Given the description of an element on the screen output the (x, y) to click on. 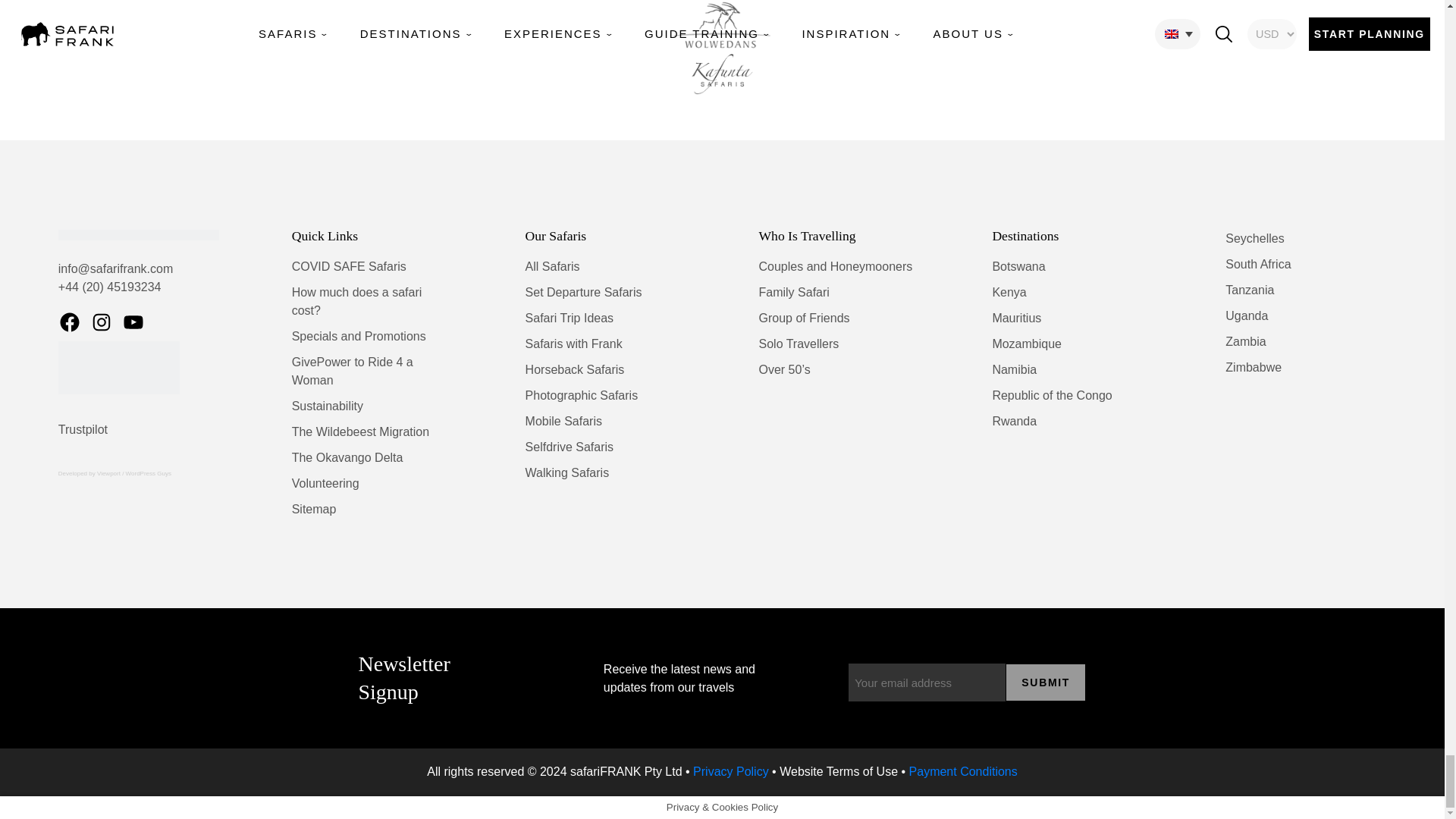
Submit (1046, 682)
